Given the description of an element on the screen output the (x, y) to click on. 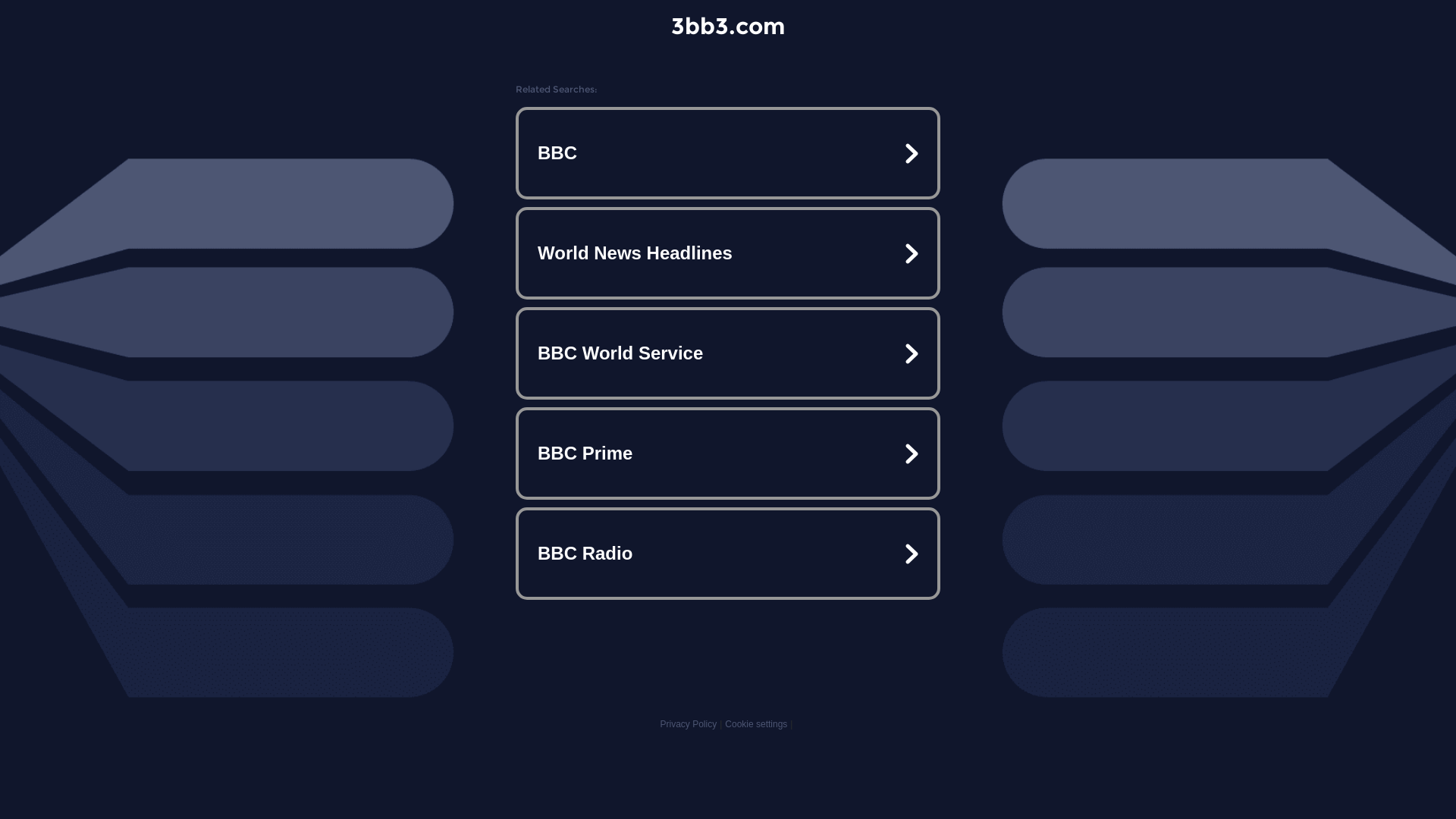
World News Headlines Element type: text (727, 253)
BBC Radio Element type: text (727, 553)
3bb3.com Element type: text (727, 26)
BBC Element type: text (727, 152)
Privacy Policy Element type: text (687, 723)
Cookie settings Element type: text (755, 723)
BBC World Service Element type: text (727, 353)
BBC Prime Element type: text (727, 453)
